Given the description of an element on the screen output the (x, y) to click on. 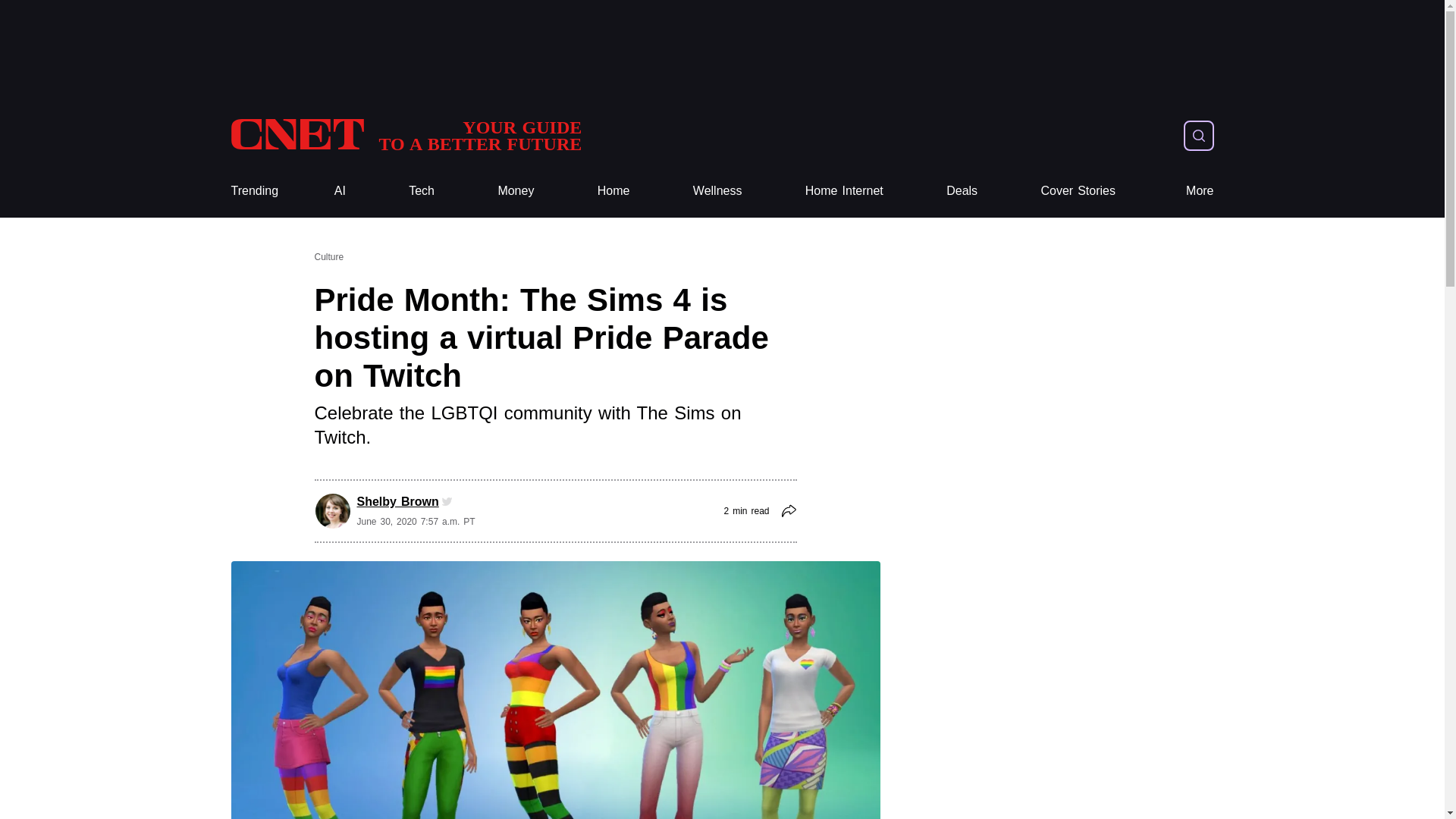
Home (613, 190)
Trending (254, 190)
More (1199, 190)
Home (405, 135)
Tech (613, 190)
Money (421, 190)
Wellness (515, 190)
Tech (717, 190)
Trending (421, 190)
